Given the description of an element on the screen output the (x, y) to click on. 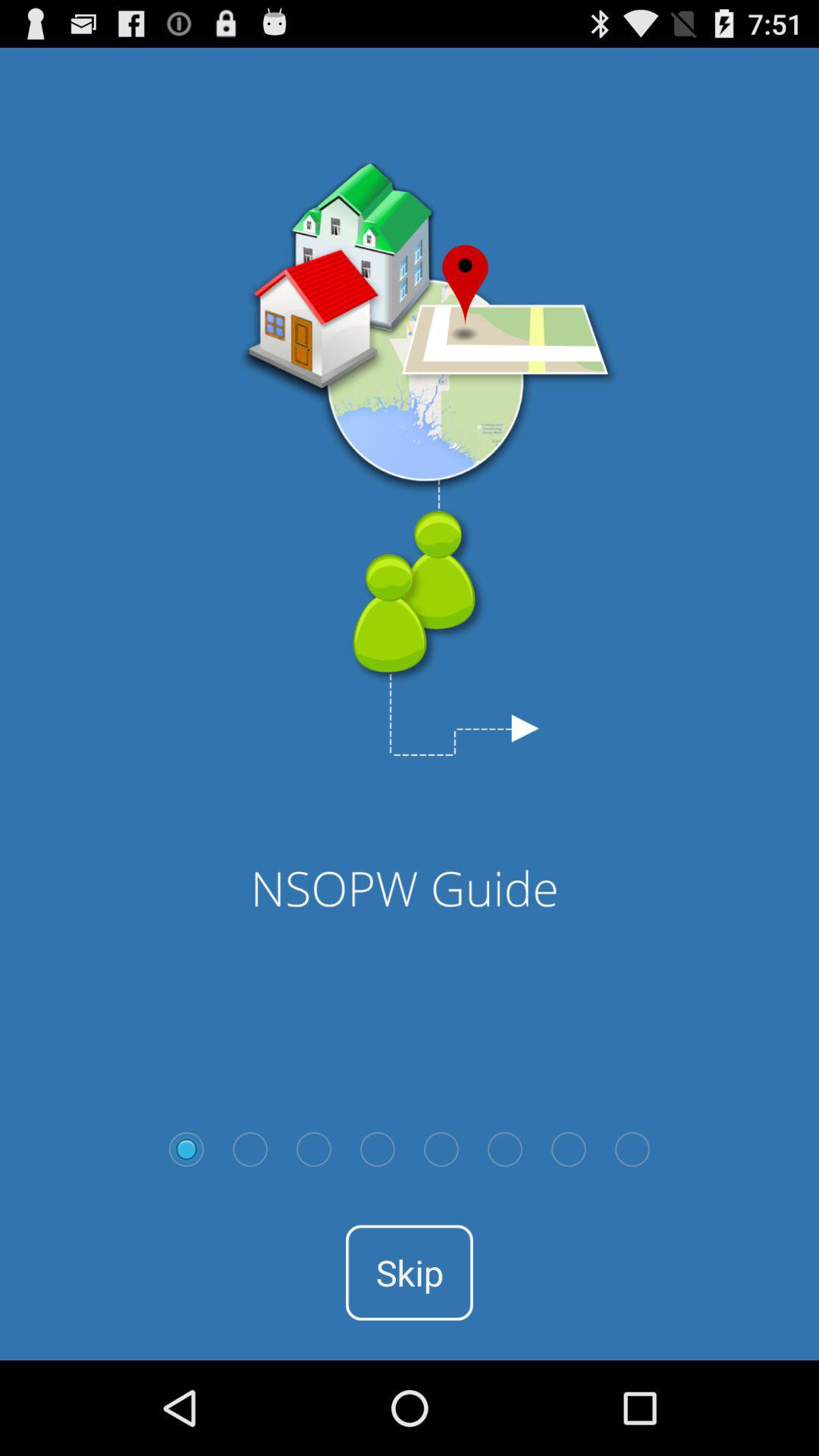
go to select option (186, 1149)
